Given the description of an element on the screen output the (x, y) to click on. 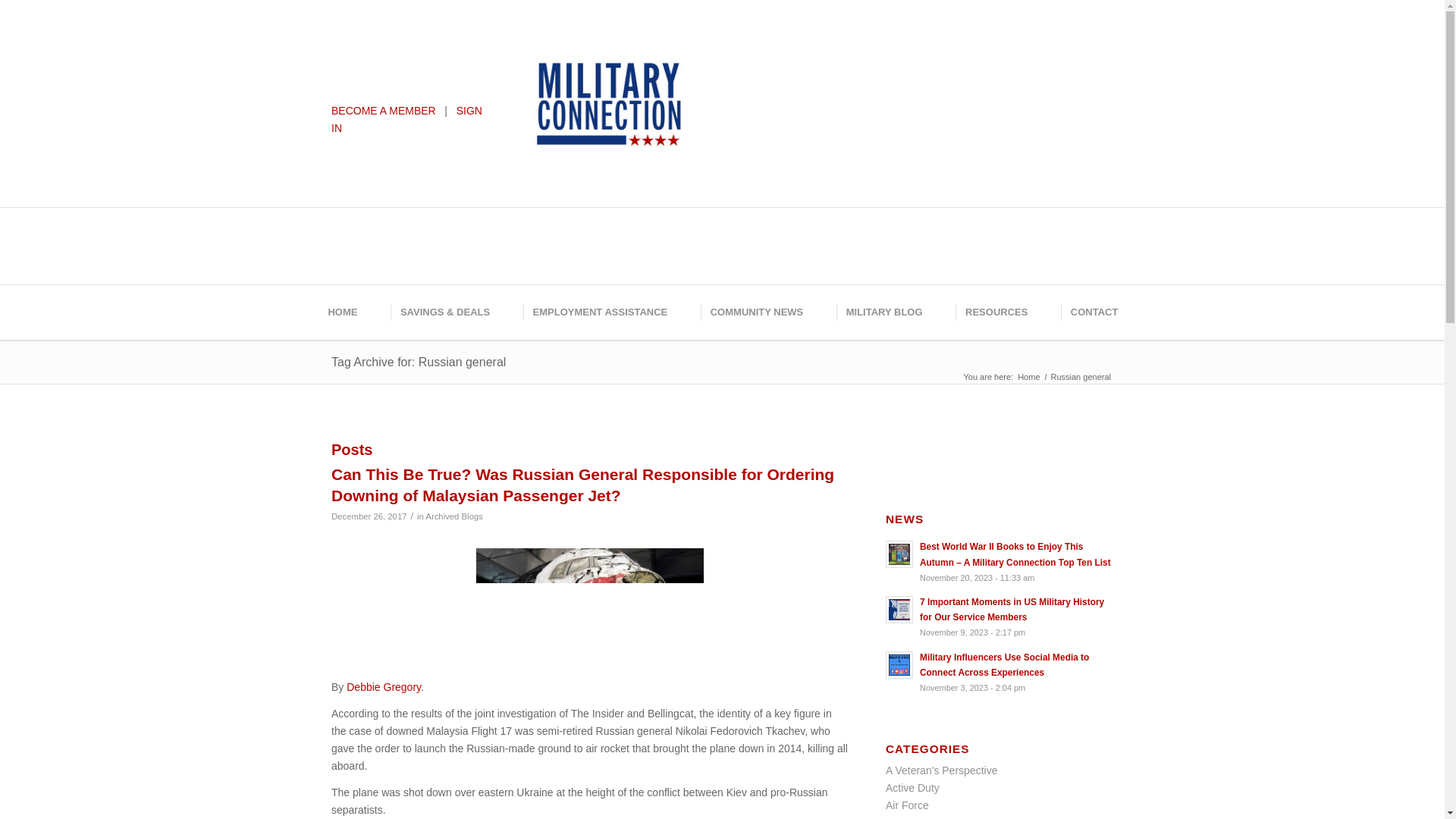
Twitter (771, 48)
RESOURCES (995, 311)
Military Connection (1028, 377)
HOME (341, 311)
EMPLOYMENT ASSISTANCE (598, 311)
Air Force (906, 805)
